Given the description of an element on the screen output the (x, y) to click on. 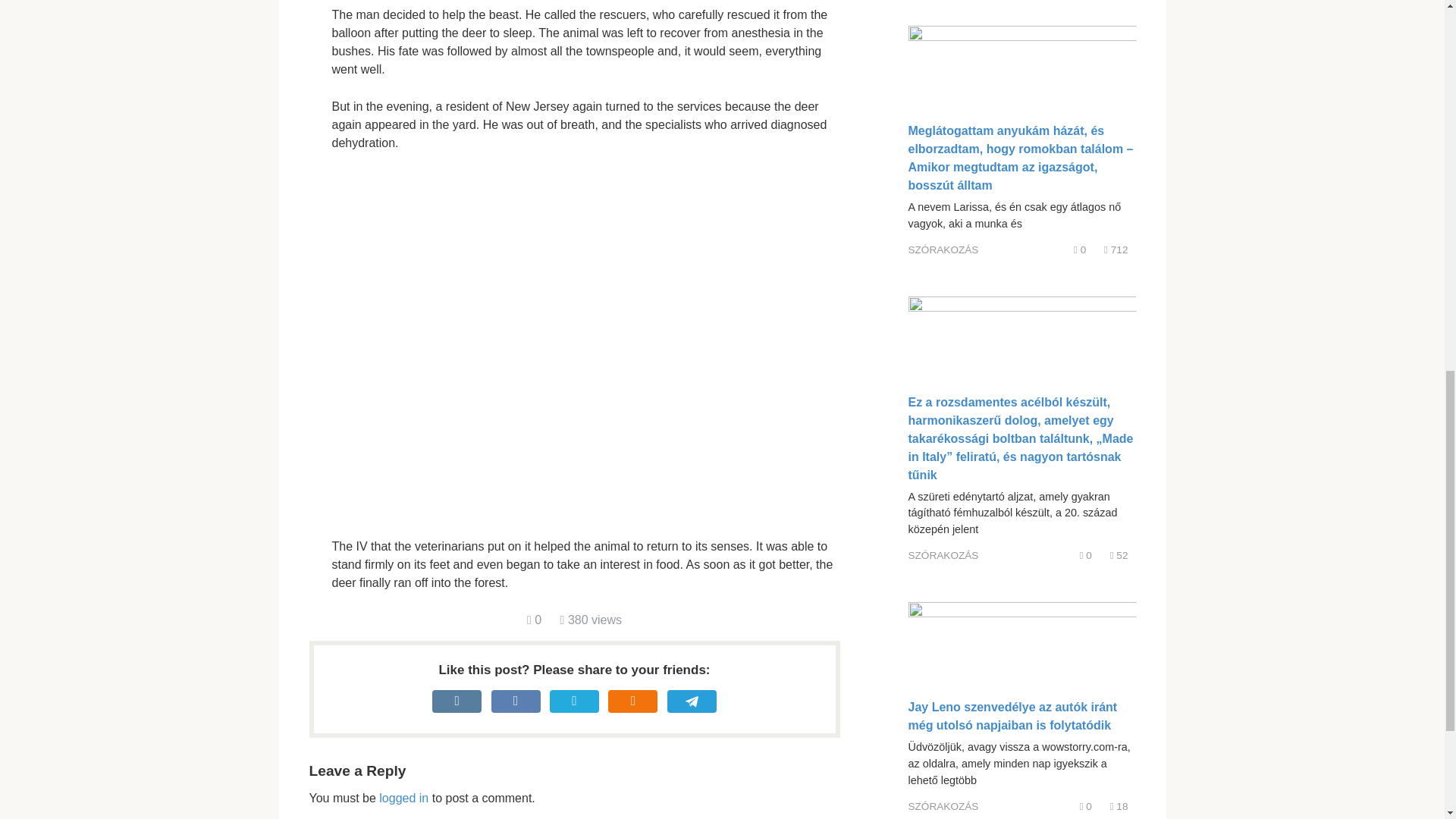
Views (1118, 806)
logged in (403, 797)
Comments (1086, 806)
Views (590, 619)
Views (1118, 555)
Comments (534, 619)
Views (1114, 249)
Comments (1086, 555)
Comments (1080, 249)
